Given the description of an element on the screen output the (x, y) to click on. 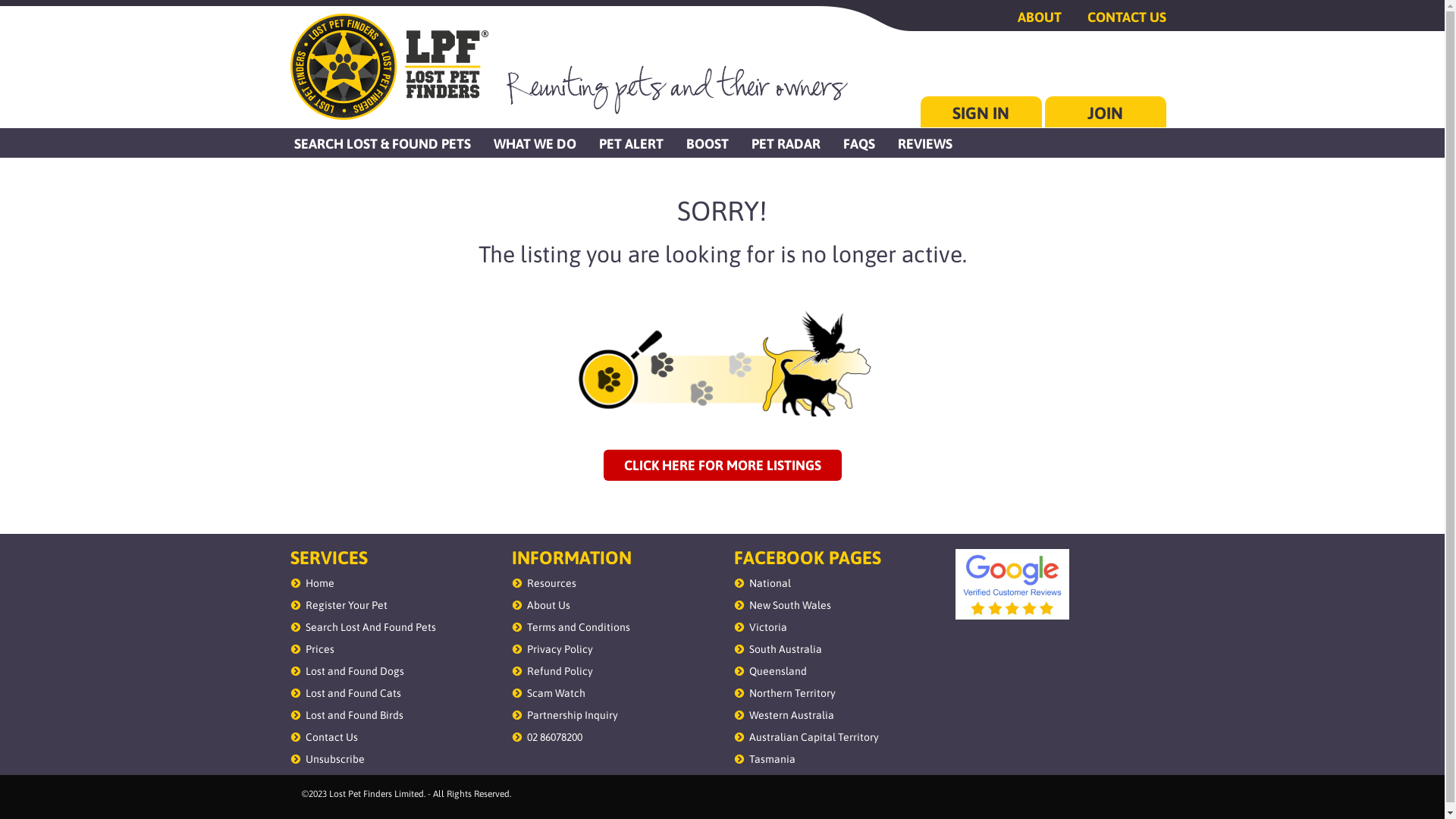
Unsubscribe Element type: text (334, 759)
Contact Us Element type: text (330, 737)
Home Element type: text (318, 583)
Lost and Found Dogs Element type: text (353, 671)
Lost and Found Cats Element type: text (352, 693)
REVIEWS Element type: text (924, 142)
About Us Element type: text (548, 605)
PET ALERT Element type: text (630, 142)
JOIN Element type: text (1105, 111)
Lost Pet Finders Element type: hover (388, 66)
Google 5 Stars Element type: hover (1012, 584)
Tasmania Element type: text (772, 759)
Partnership Inquiry Element type: text (572, 715)
Register Your Pet Element type: text (345, 605)
Queensland Element type: text (777, 671)
New South Wales Element type: text (790, 605)
Victoria Element type: text (768, 627)
National Element type: text (769, 583)
Lost and Found Birds Element type: text (353, 715)
Search Lost And Found Pets Element type: text (369, 627)
South Australia Element type: text (785, 649)
WHAT WE DO Element type: text (534, 142)
Prices Element type: text (318, 649)
Northern Territory Element type: text (792, 693)
PET RADAR Element type: text (785, 142)
ABOUT Element type: text (1027, 17)
CONTACT US Element type: text (1115, 17)
SIGN IN Element type: text (980, 111)
Scam Watch Element type: text (556, 693)
Refund Policy Element type: text (560, 671)
SEARCH LOST & FOUND PETS Element type: text (381, 142)
Western Australia Element type: text (791, 715)
02 86078200 Element type: text (554, 737)
Resources Element type: text (551, 583)
Australian Capital Territory Element type: text (813, 737)
FAQS Element type: text (858, 142)
Lost Pet Finders Element type: hover (721, 365)
Privacy Policy Element type: text (560, 649)
BOOST Element type: text (707, 142)
CLICK HERE FOR MORE LISTINGS Element type: text (722, 464)
Terms and Conditions Element type: text (578, 627)
